Given the description of an element on the screen output the (x, y) to click on. 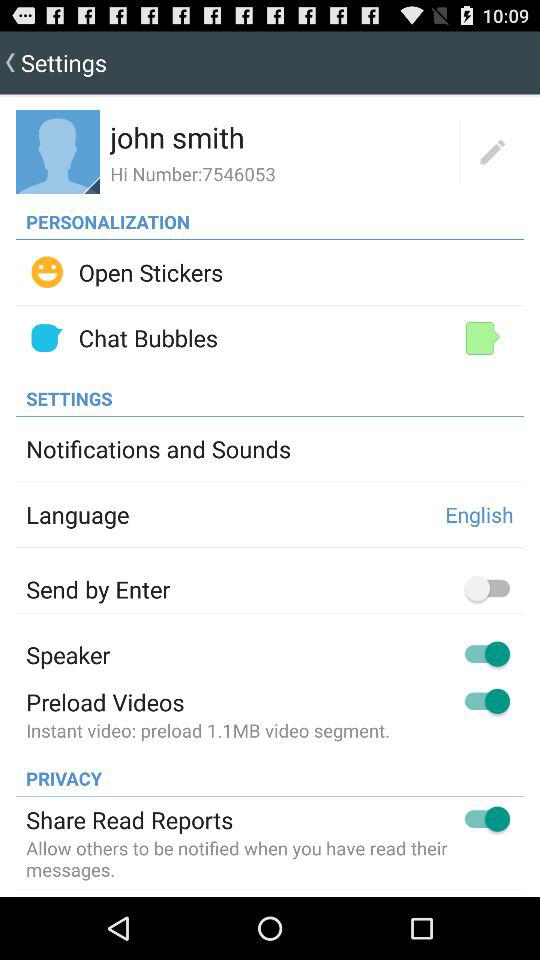
click on the switch button which is to the right of preload videos (487, 702)
click on icon right to john smith (492, 152)
select the switch button right side to speaker (487, 655)
